Given the description of an element on the screen output the (x, y) to click on. 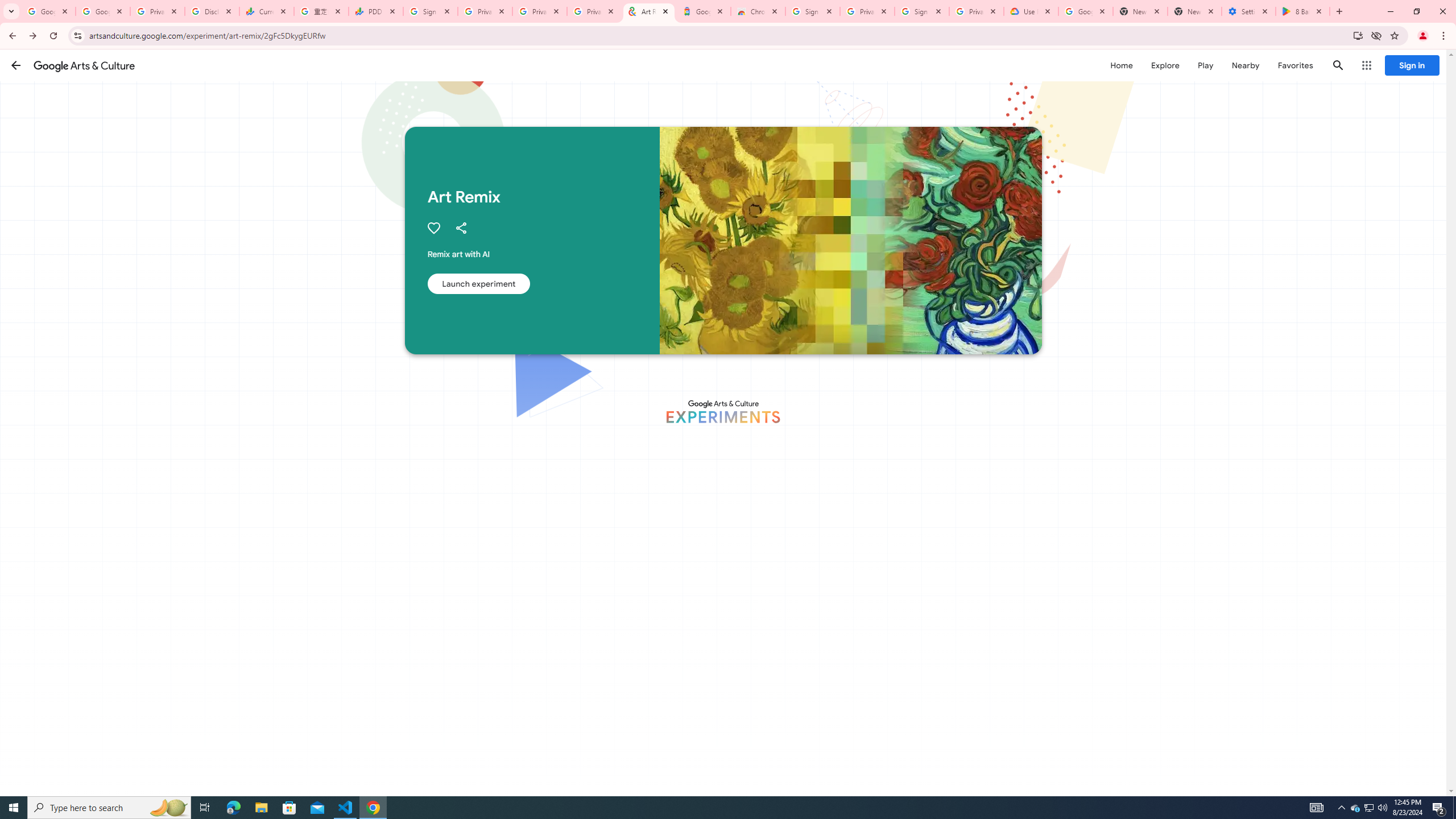
Play (1205, 65)
Settings - System (1249, 11)
Privacy Checkup (594, 11)
Google Arts & Culture Experiments (722, 411)
Google Workspace Admin Community (48, 11)
Nearby (1244, 65)
Currencies - Google Finance (266, 11)
